Given the description of an element on the screen output the (x, y) to click on. 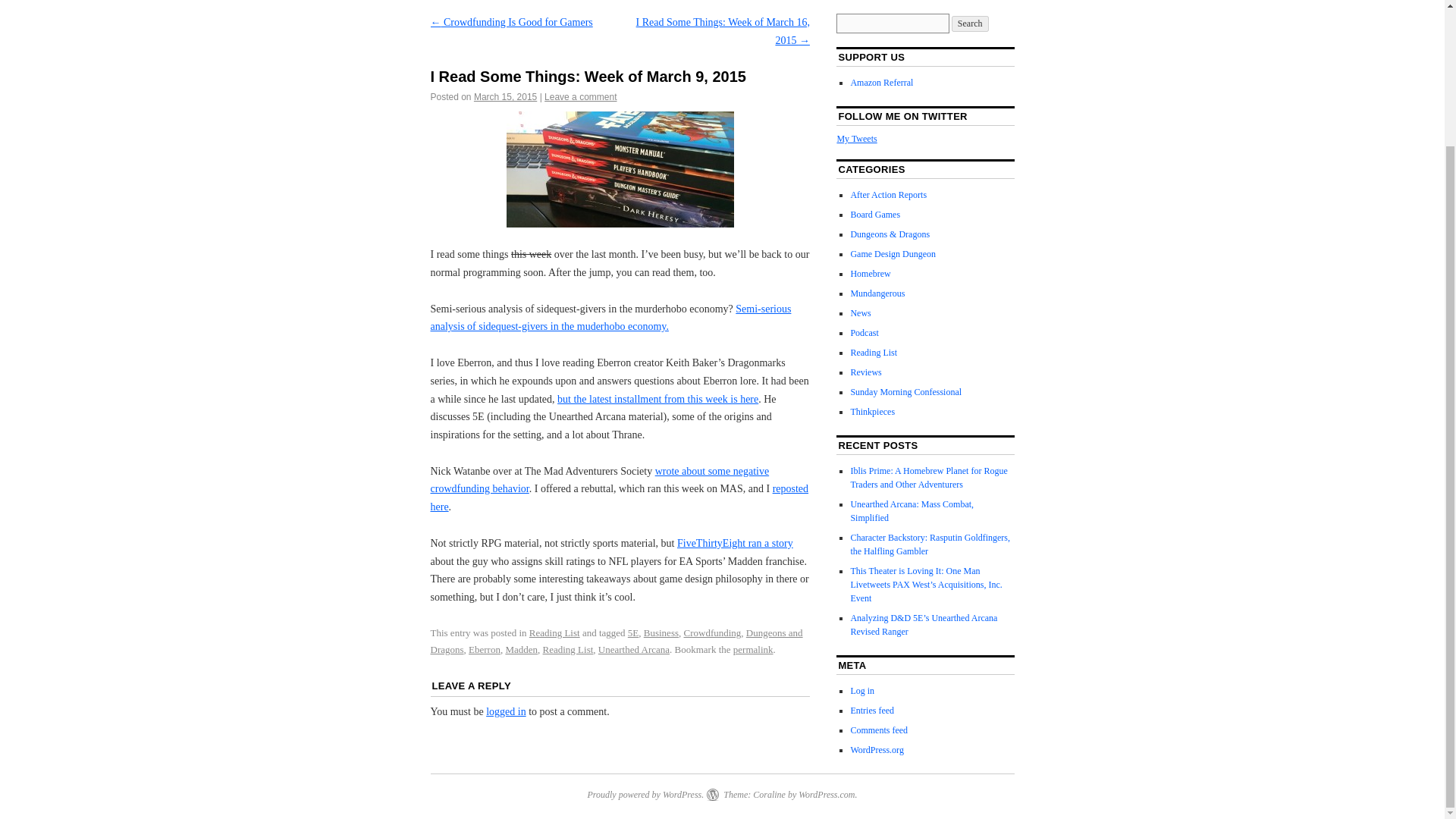
Mundangerous (877, 293)
Game Design Dungeon (893, 253)
8:52 pm (505, 96)
March 15, 2015 (505, 96)
logged in (505, 711)
Critical Hits (611, 317)
After Action Reports (888, 194)
wrote about some negative crowdfunding behavior (600, 480)
Search (970, 23)
FiveThirtyEight (735, 542)
Permalink to I Read Some Things: Week of March 9, 2015 (753, 649)
FiveThirtyEight ran a story (735, 542)
Unearthed Arcana (633, 649)
Eberron (484, 649)
Reading List (554, 632)
